Given the description of an element on the screen output the (x, y) to click on. 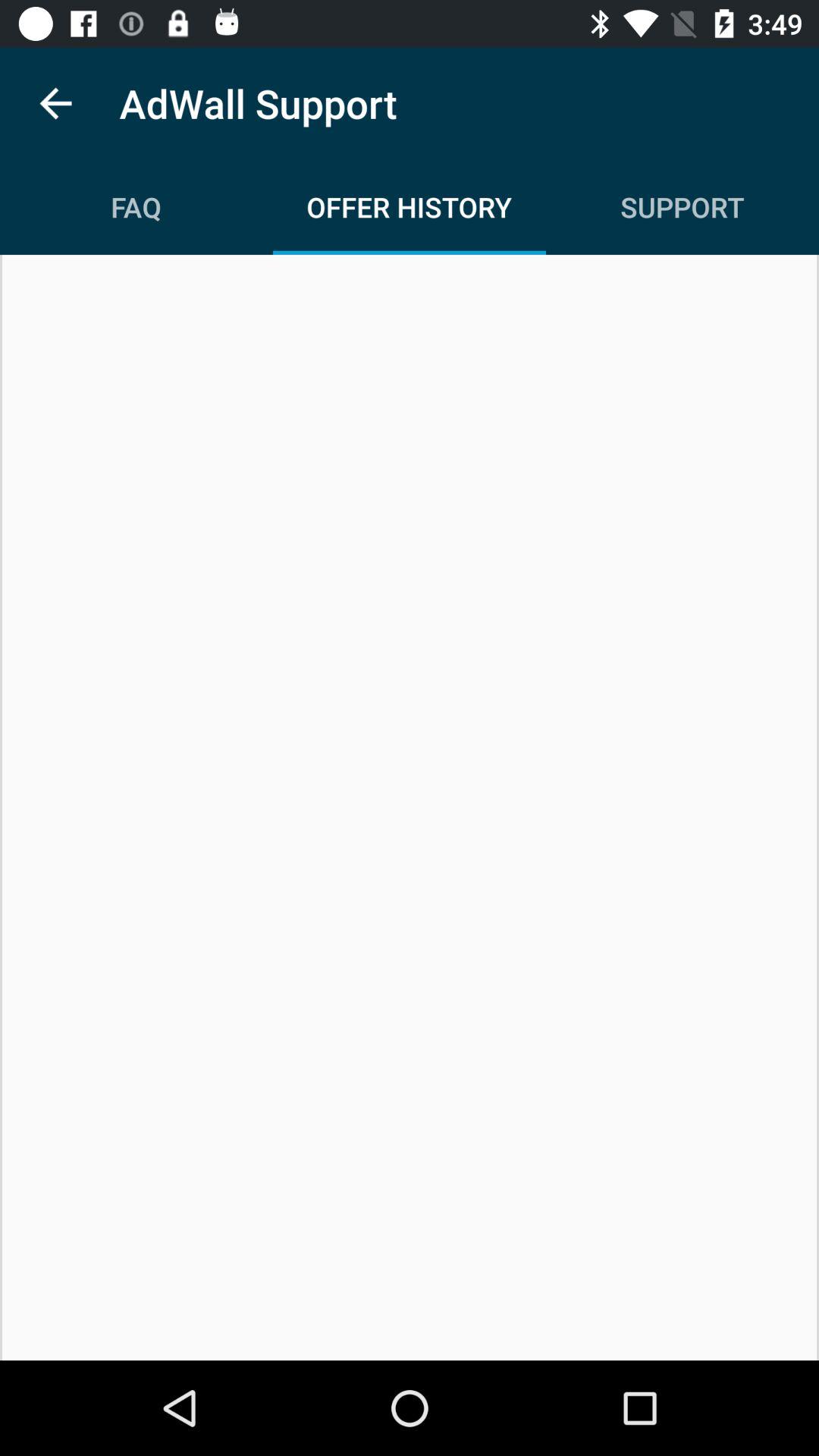
choose the item above the faq (55, 103)
